Given the description of an element on the screen output the (x, y) to click on. 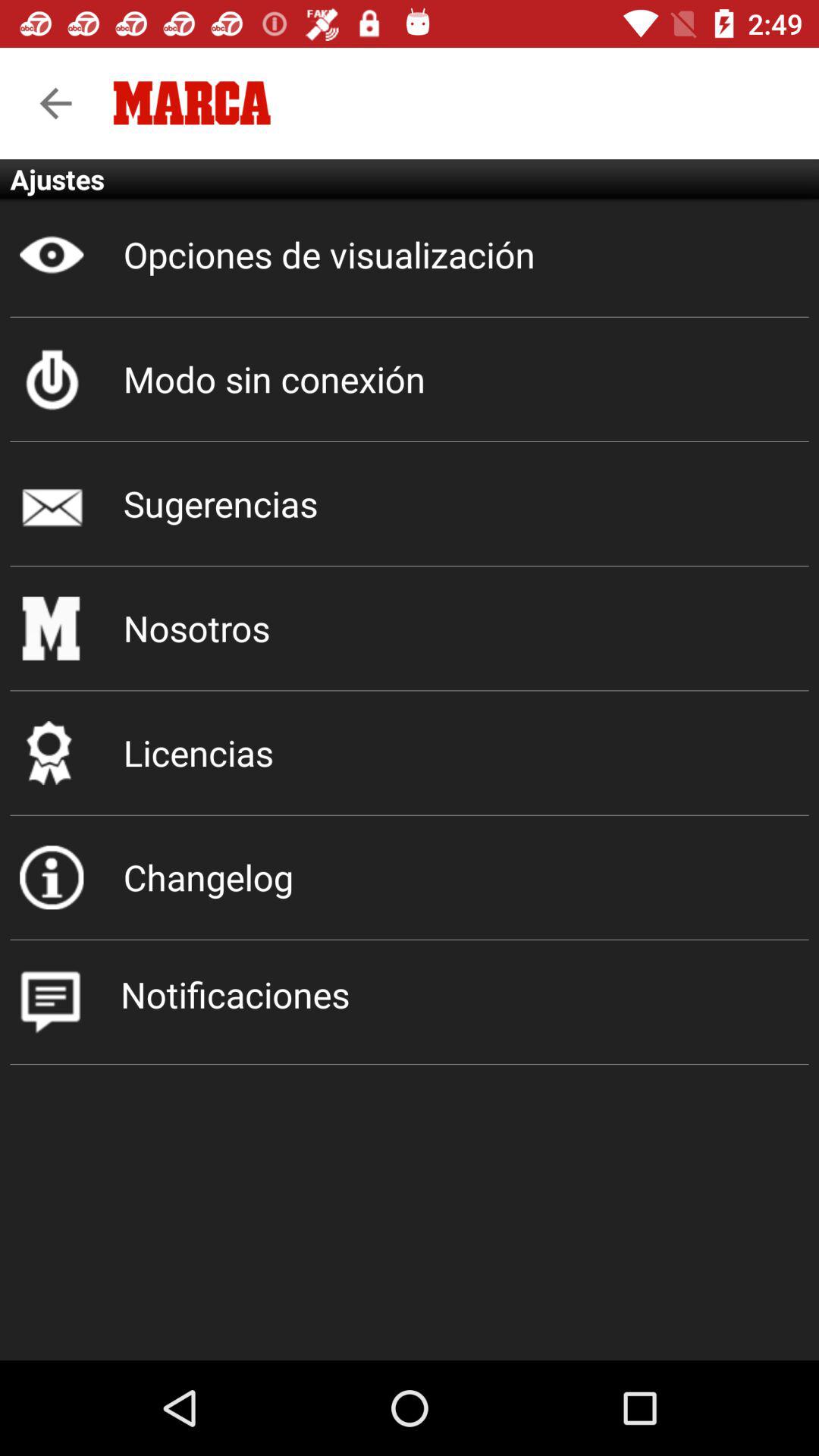
launch the item above ajustes icon (55, 103)
